Given the description of an element on the screen output the (x, y) to click on. 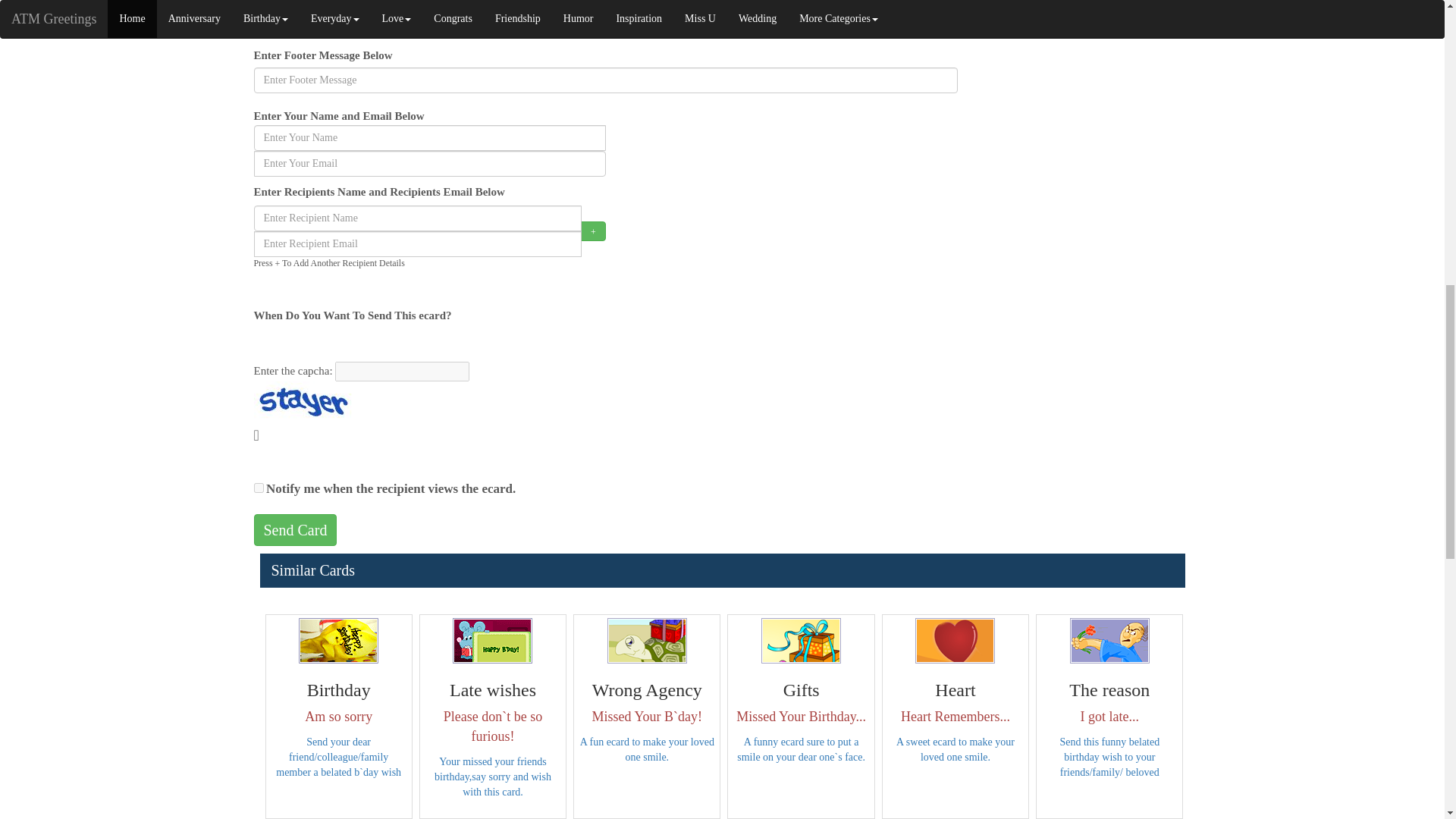
Advertisement (1079, 76)
checked (258, 488)
Am so sorry (338, 640)
Missed Your Birthday... (801, 640)
Send Card (294, 530)
I got late... (1110, 640)
Heart Remembers... (954, 640)
